Given the description of an element on the screen output the (x, y) to click on. 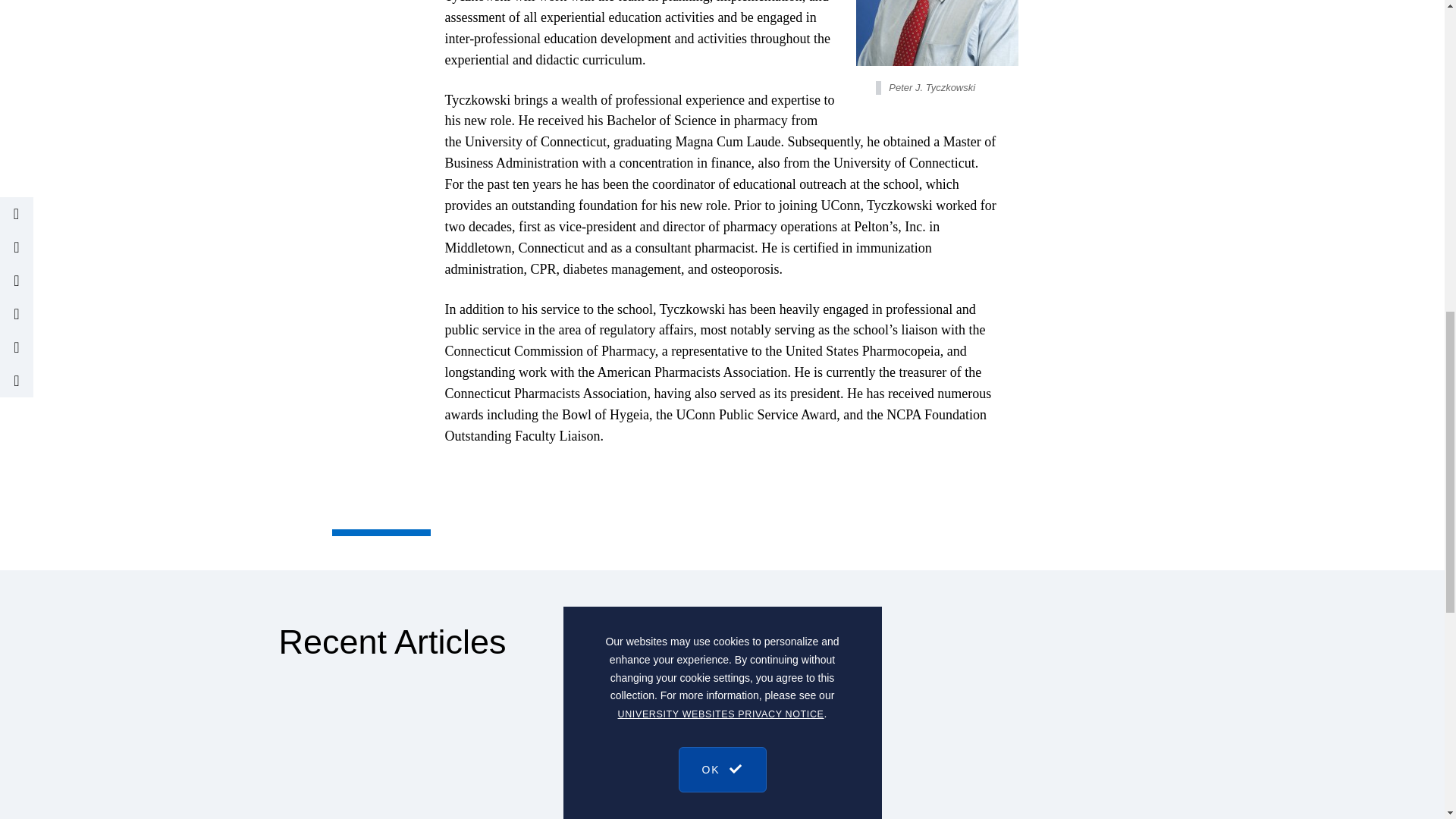
OK (721, 122)
UNIVERSITY WEBSITES PRIVACY NOTICE (720, 74)
